Given the description of an element on the screen output the (x, y) to click on. 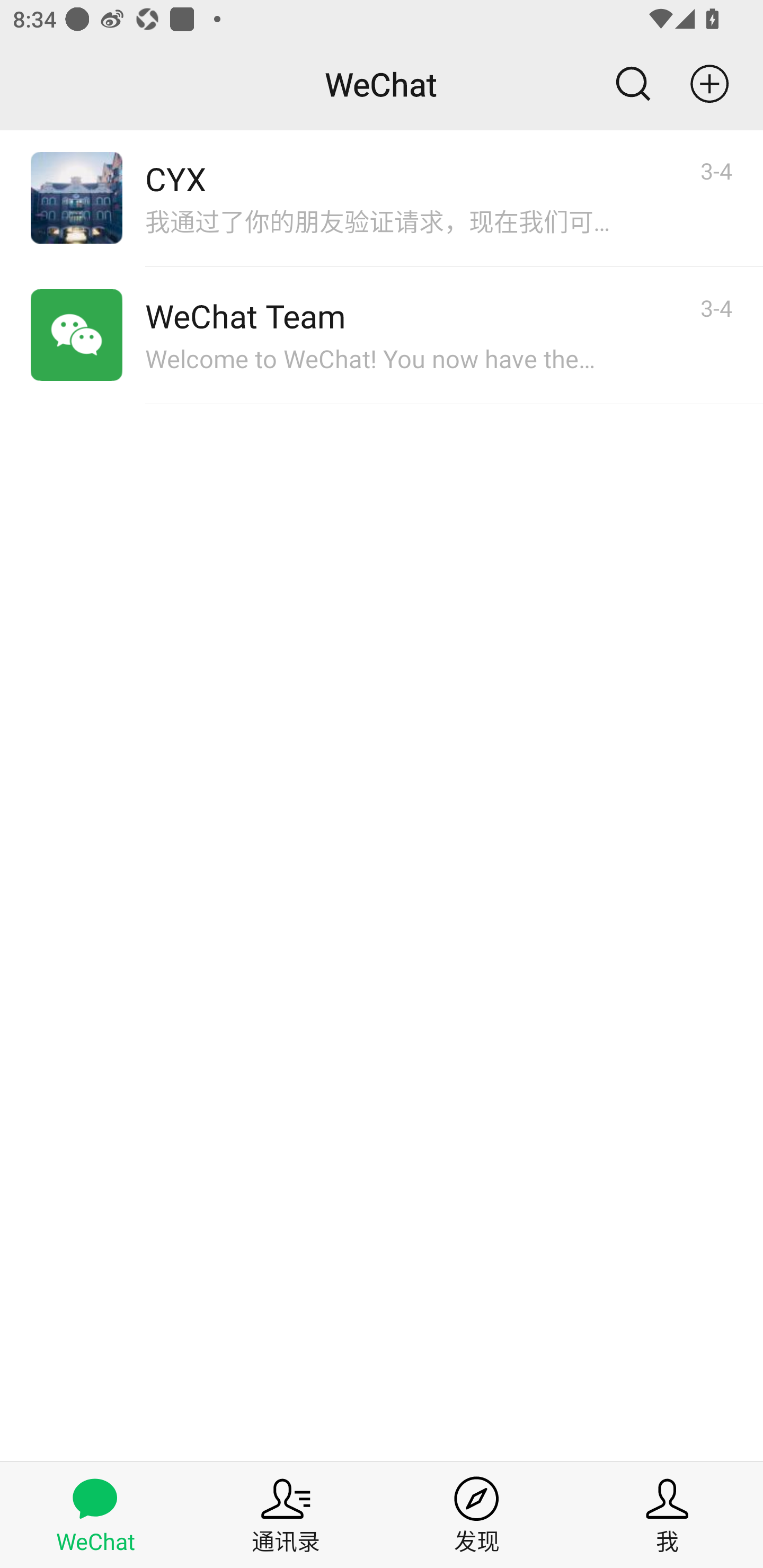
WeChat 搜索 更多功能按钮 (381, 83)
CYX 3-4 我通过了你的朋友验证请求，现在我们可… (381, 198)
WeChat (95, 1514)
通讯录 (285, 1514)
发现 (476, 1514)
我 (667, 1514)
